Given the description of an element on the screen output the (x, y) to click on. 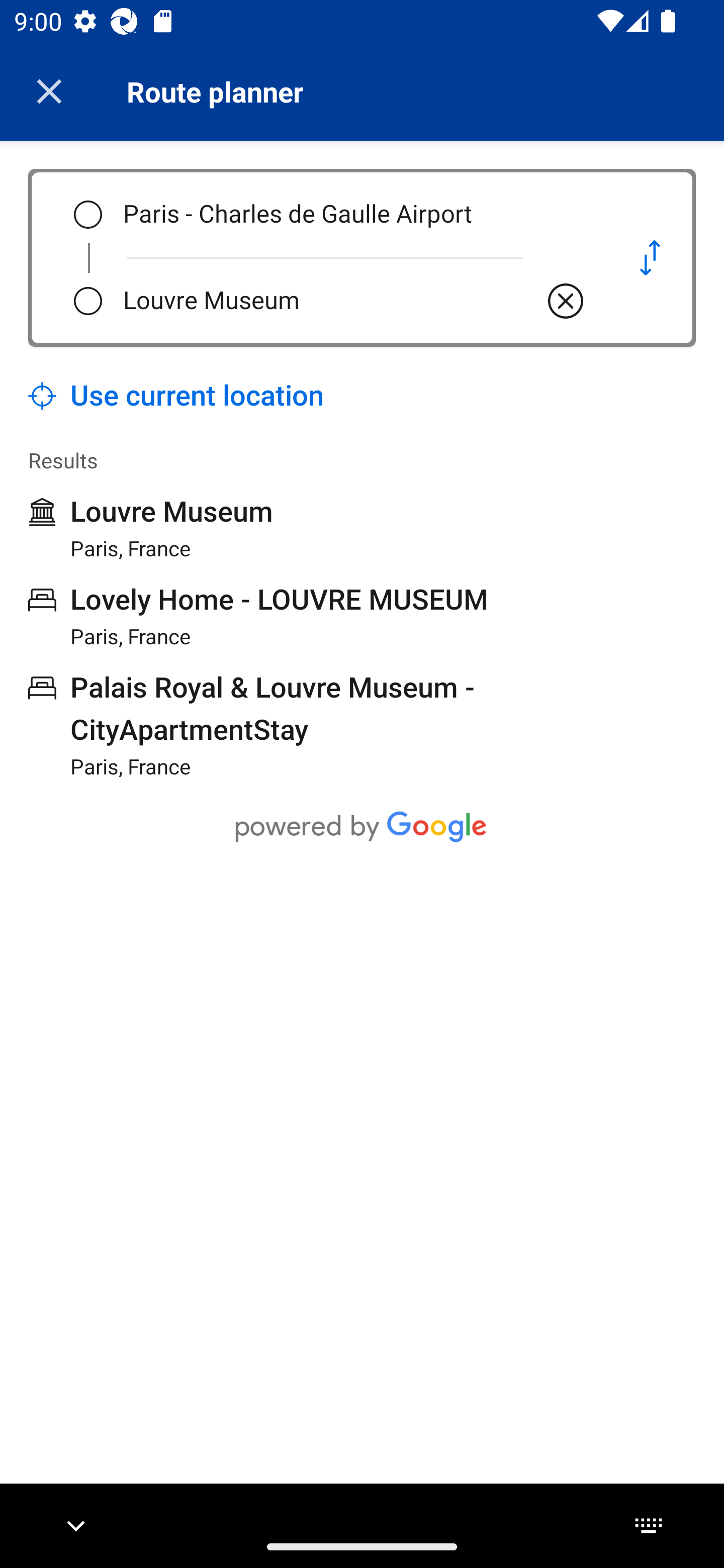
Close (49, 91)
Paris - Charles de Gaulle Airport (355, 214)
Swap pick-up location and destination (650, 257)
Louvre Museum Clear (355, 300)
Clear (565, 300)
Use current location (176, 395)
Louvre Museum Paris, France (150, 528)
Lovely Home - LOUVRE MUSEUM Paris, France (258, 615)
